Given the description of an element on the screen output the (x, y) to click on. 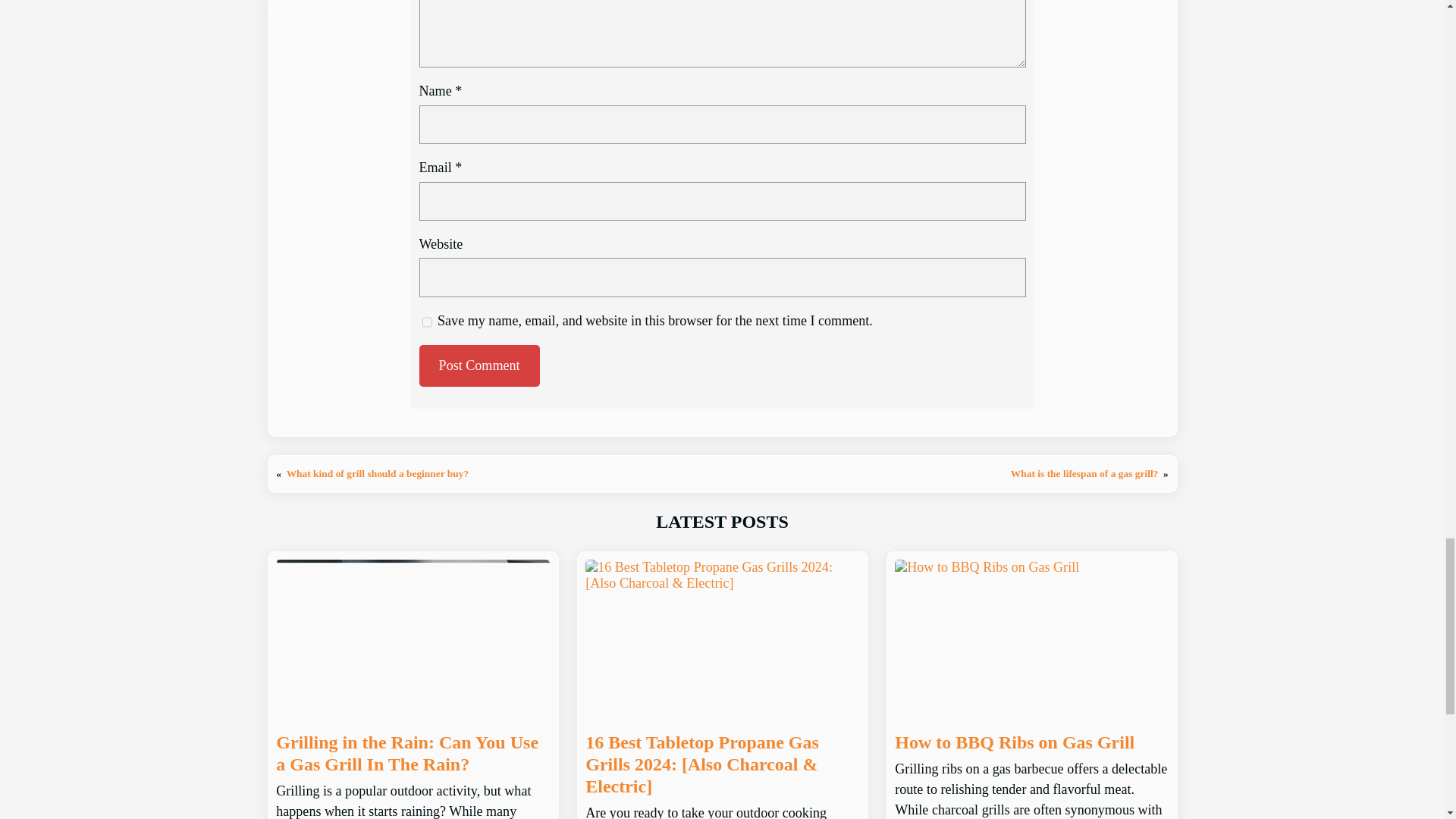
What is the lifespan of a gas grill? (1083, 473)
Post Comment (478, 365)
What kind of grill should a beginner buy? (377, 473)
Post Comment (478, 365)
How to BBQ Ribs on Gas Grill (1014, 742)
Grilling in the Rain: Can You Use a Gas Grill In The Rain? (413, 753)
